Given the description of an element on the screen output the (x, y) to click on. 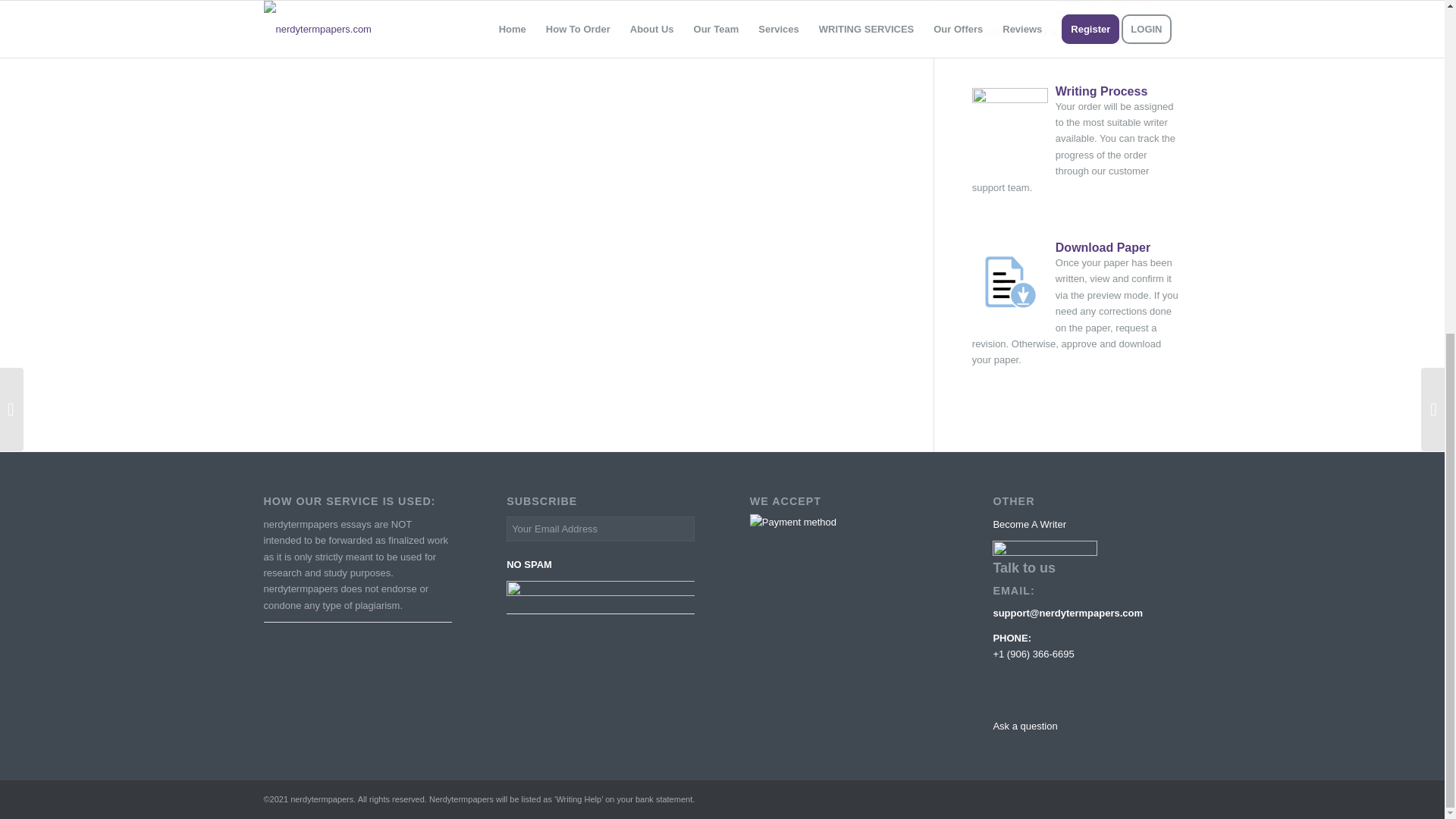
Become A Writer (1028, 523)
Ask a question (1024, 726)
